Given the description of an element on the screen output the (x, y) to click on. 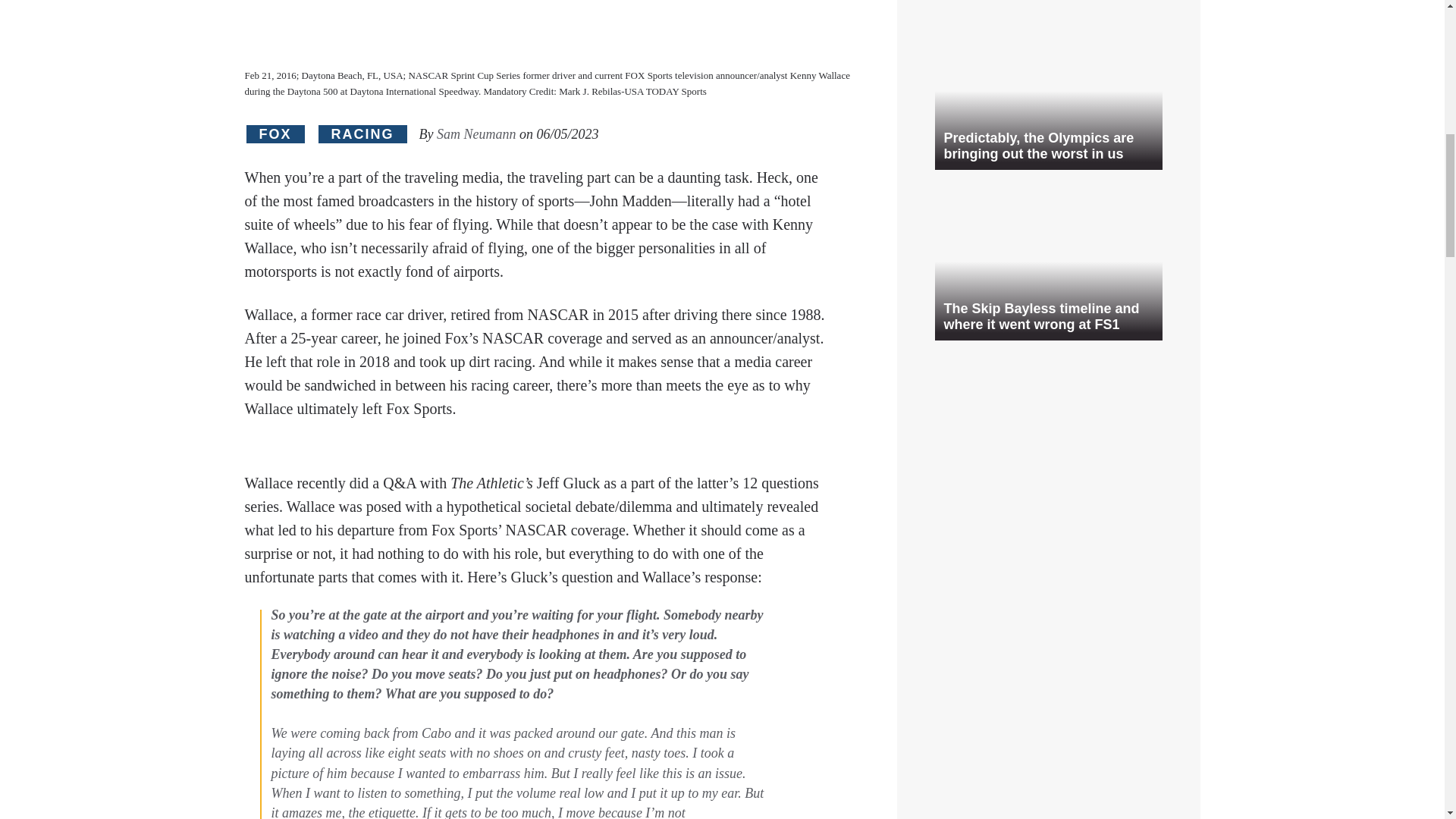
View all posts in Racing (362, 134)
View all posts in Fox (275, 134)
